Given the description of an element on the screen output the (x, y) to click on. 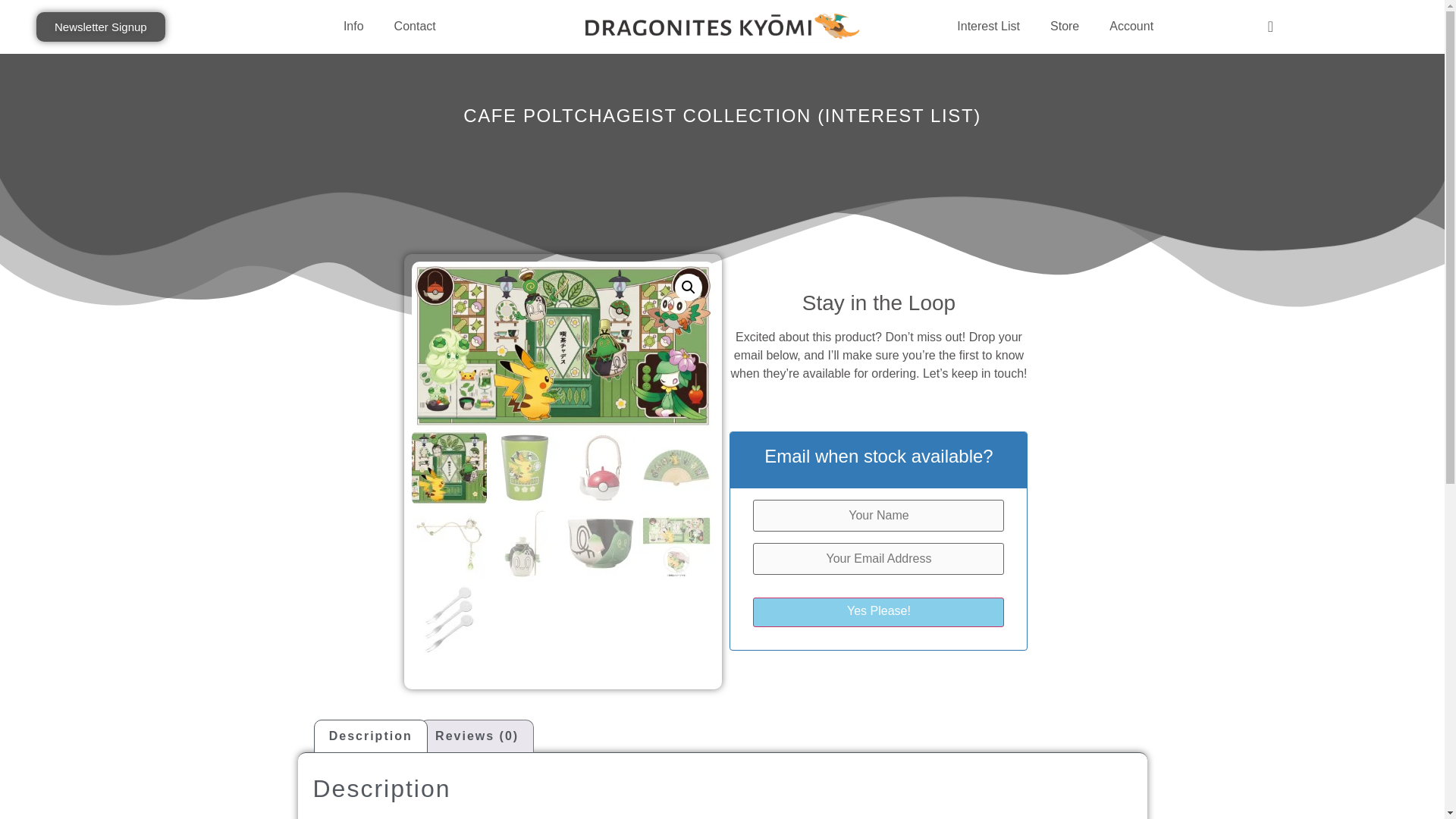
Info (353, 26)
Newsletter Signup (100, 26)
e5789d2338d9fb034c8c33864c4511d65e616aea (562, 345)
Store (1064, 26)
Contact (414, 26)
Interest List (988, 26)
Yes Please! (878, 612)
Account (1131, 26)
f107d5d948a4c51c88b44f7eb15acea1a2379dd0 (865, 413)
